Given the description of an element on the screen output the (x, y) to click on. 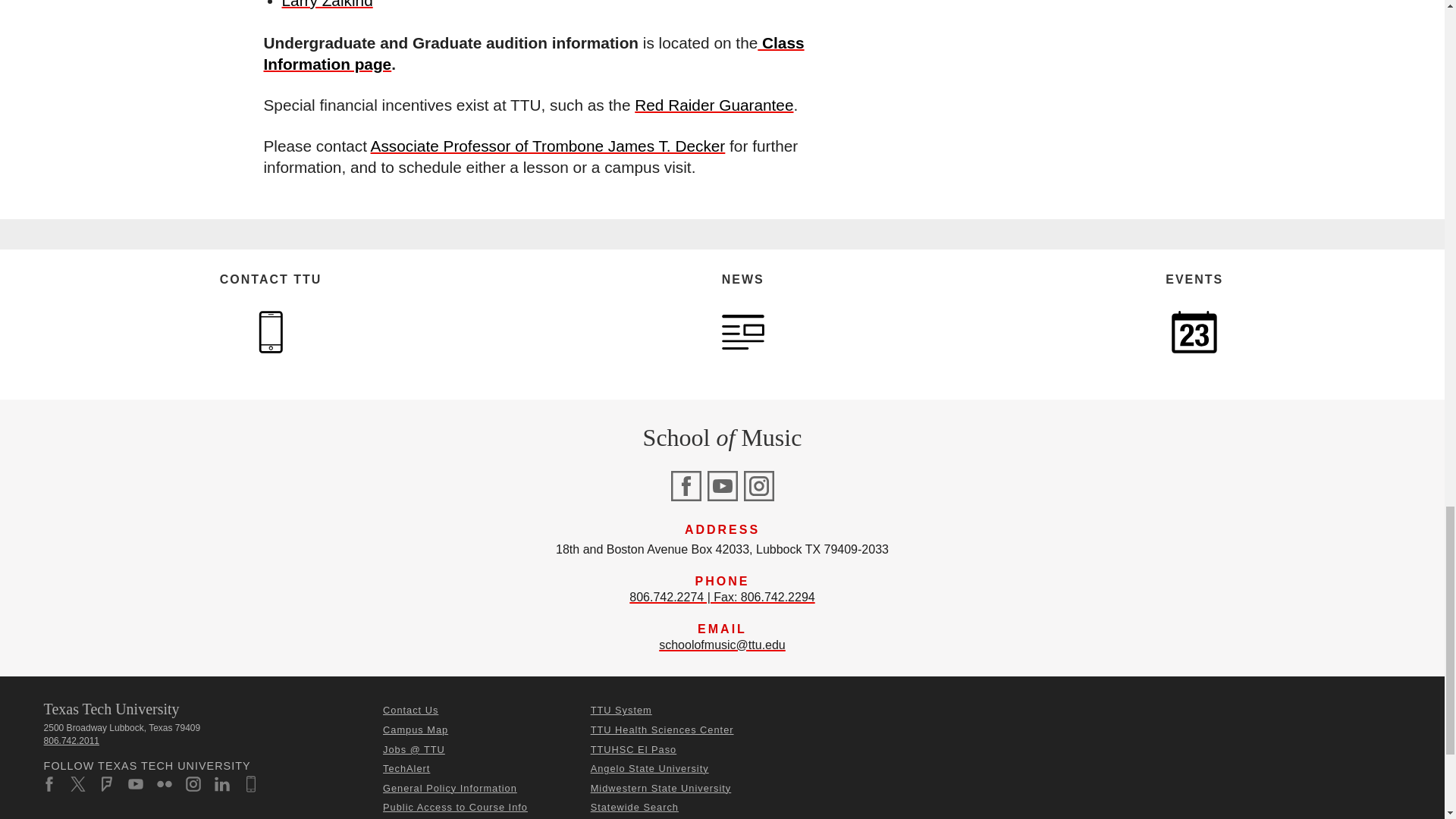
CONTACT CONTACT TTUCONTACT CONTACT TTU (270, 332)
NEWS FOR NEWSNEWS FOR NEWS (743, 332)
EVENTSEVENTS (1193, 332)
